Given the description of an element on the screen output the (x, y) to click on. 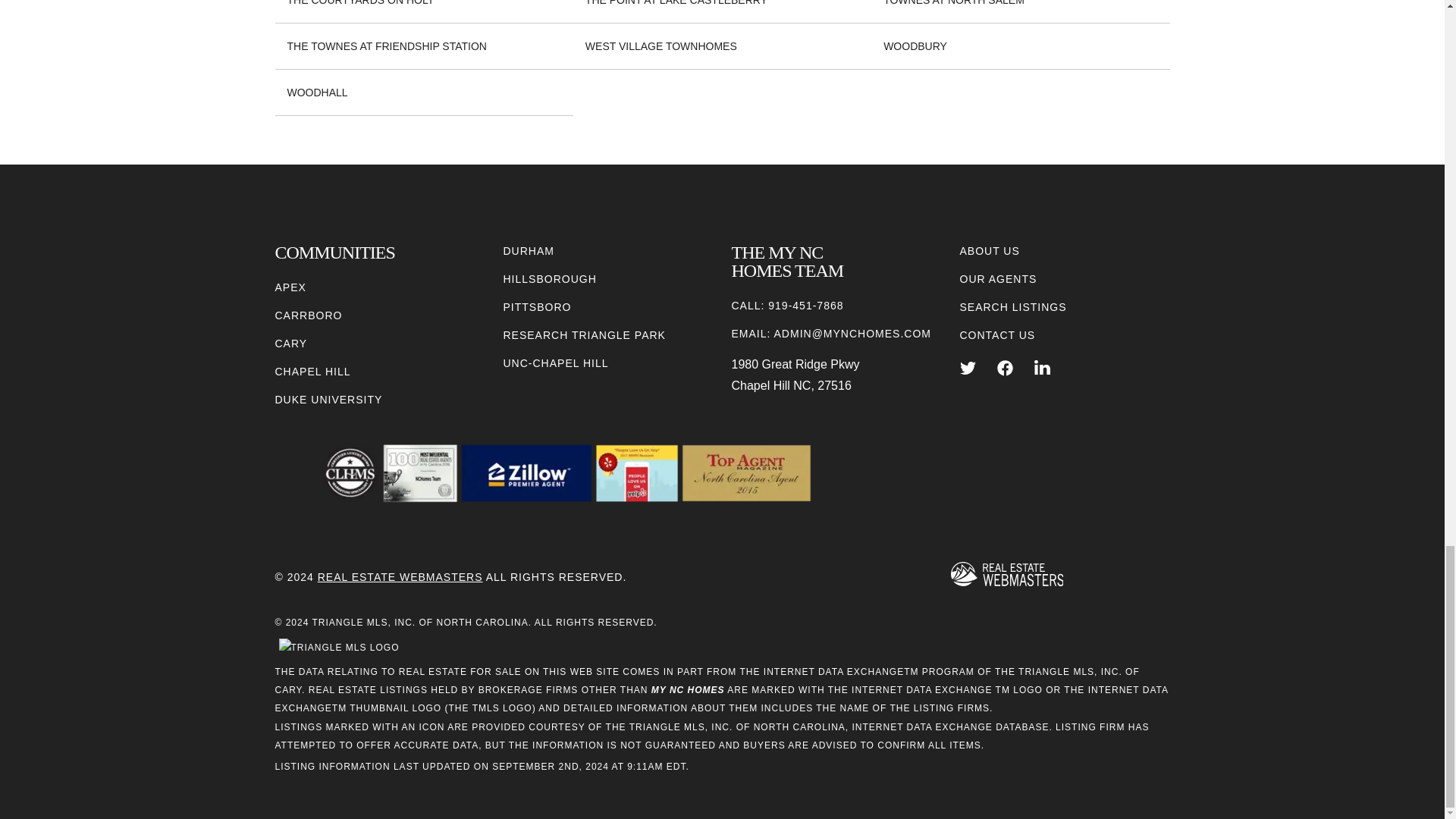
TWITTER (967, 367)
LINKEDIN (1041, 367)
FACEBOOK (1005, 367)
